Given the description of an element on the screen output the (x, y) to click on. 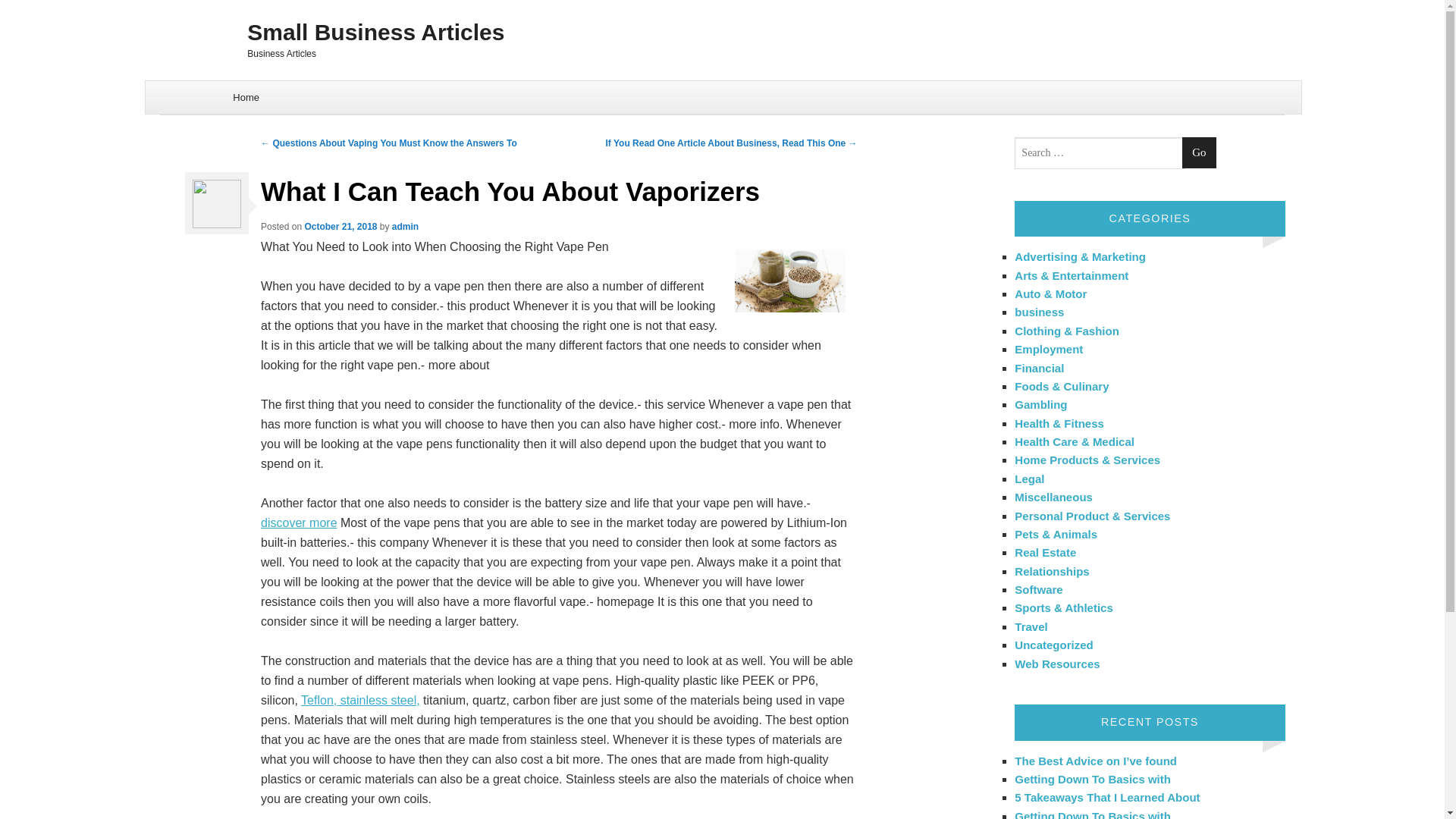
Uncategorized (1053, 644)
Legal (1028, 478)
discover more (298, 522)
business (1039, 311)
Software (1038, 589)
Employment (1048, 349)
admin (405, 226)
Small Business Articles (721, 31)
Teflon, stainless steel, (360, 699)
Miscellaneous (1053, 496)
